Given the description of an element on the screen output the (x, y) to click on. 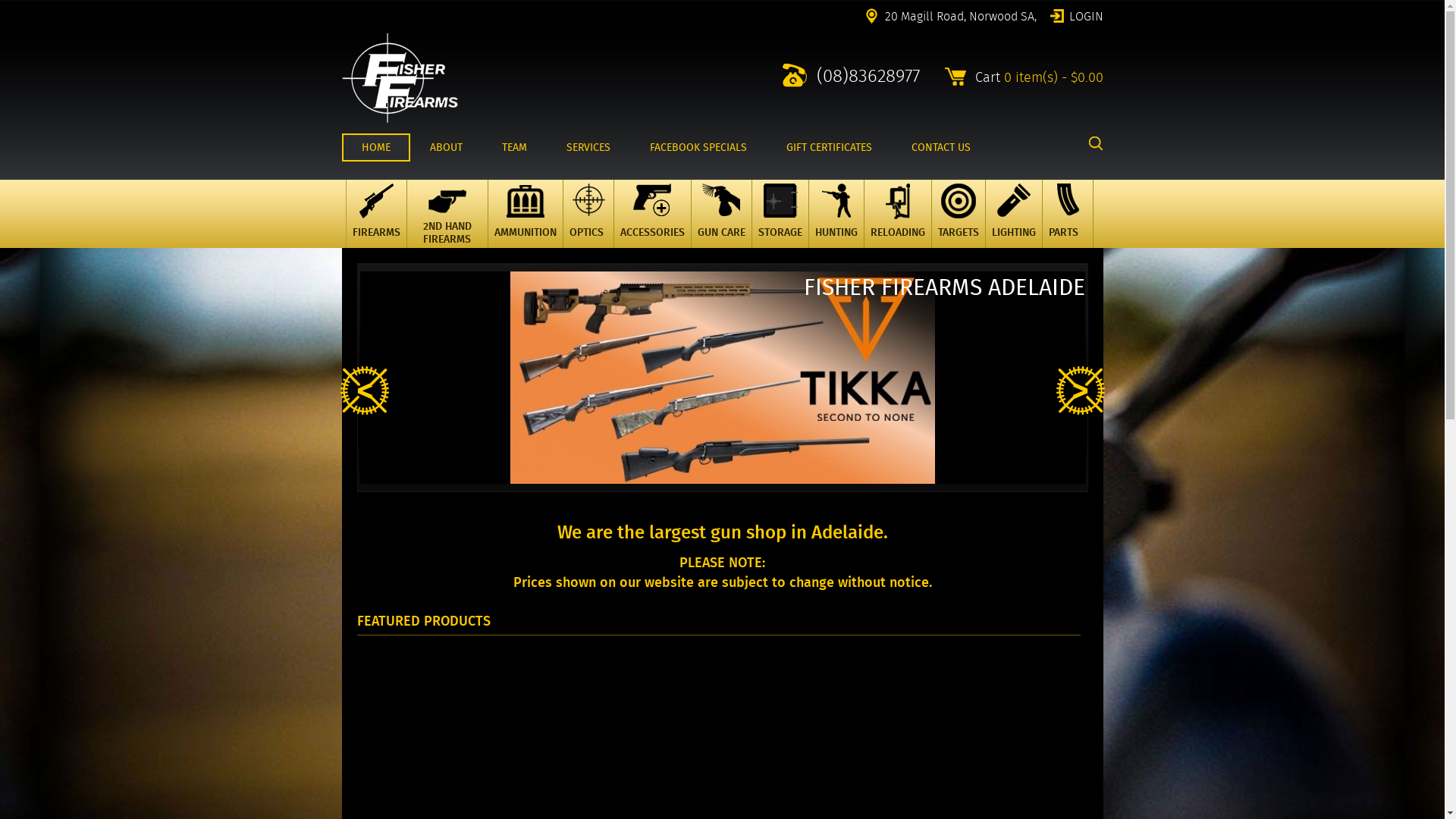
Rifles, Tikka T3, Used Guns For Sale - Adelaide Gun Shop. Element type: hover (399, 118)
Hunting Element type: hover (836, 223)
Storage Element type: hover (780, 223)
2nd Hand Firearms Element type: hover (446, 223)
Reloading Element type: hover (897, 223)
FACEBOOK SPECIALS Element type: text (697, 147)
Fisher Firearms Element type: hover (399, 77)
RELOADING Element type: text (897, 213)
Accessories Element type: hover (652, 223)
PARTS Element type: text (1067, 213)
GIFT CERTIFICATES Element type: text (828, 147)
LIGHTING Element type: text (1012, 213)
CONTACT US Element type: text (940, 147)
OPTICS Element type: text (588, 213)
STORAGE Element type: text (779, 213)
Ammunition Element type: hover (525, 223)
0 item(s) - $0.00 Element type: text (1053, 77)
SERVICES Element type: text (587, 147)
HUNTING Element type: text (836, 213)
Previous Element type: text (363, 390)
Targets Element type: hover (957, 223)
ABOUT Element type: text (445, 147)
AMMUNITION Element type: text (524, 213)
Lighting Element type: hover (1013, 223)
Parts Element type: hover (1066, 223)
Gun Care Element type: hover (721, 223)
Optics Element type: hover (587, 223)
TEAM Element type: text (514, 147)
ACCESSORIES Element type: text (651, 213)
HOME Element type: text (375, 147)
GUN CARE Element type: text (720, 213)
Firearms Element type: hover (376, 223)
2ND HAND FIREARMS Element type: text (447, 213)
(08)83628977 Element type: text (850, 74)
FIREARMS Element type: text (376, 213)
LOGIN Element type: text (1075, 14)
TARGETS Element type: text (958, 213)
Next Element type: text (1079, 390)
